Given the description of an element on the screen output the (x, y) to click on. 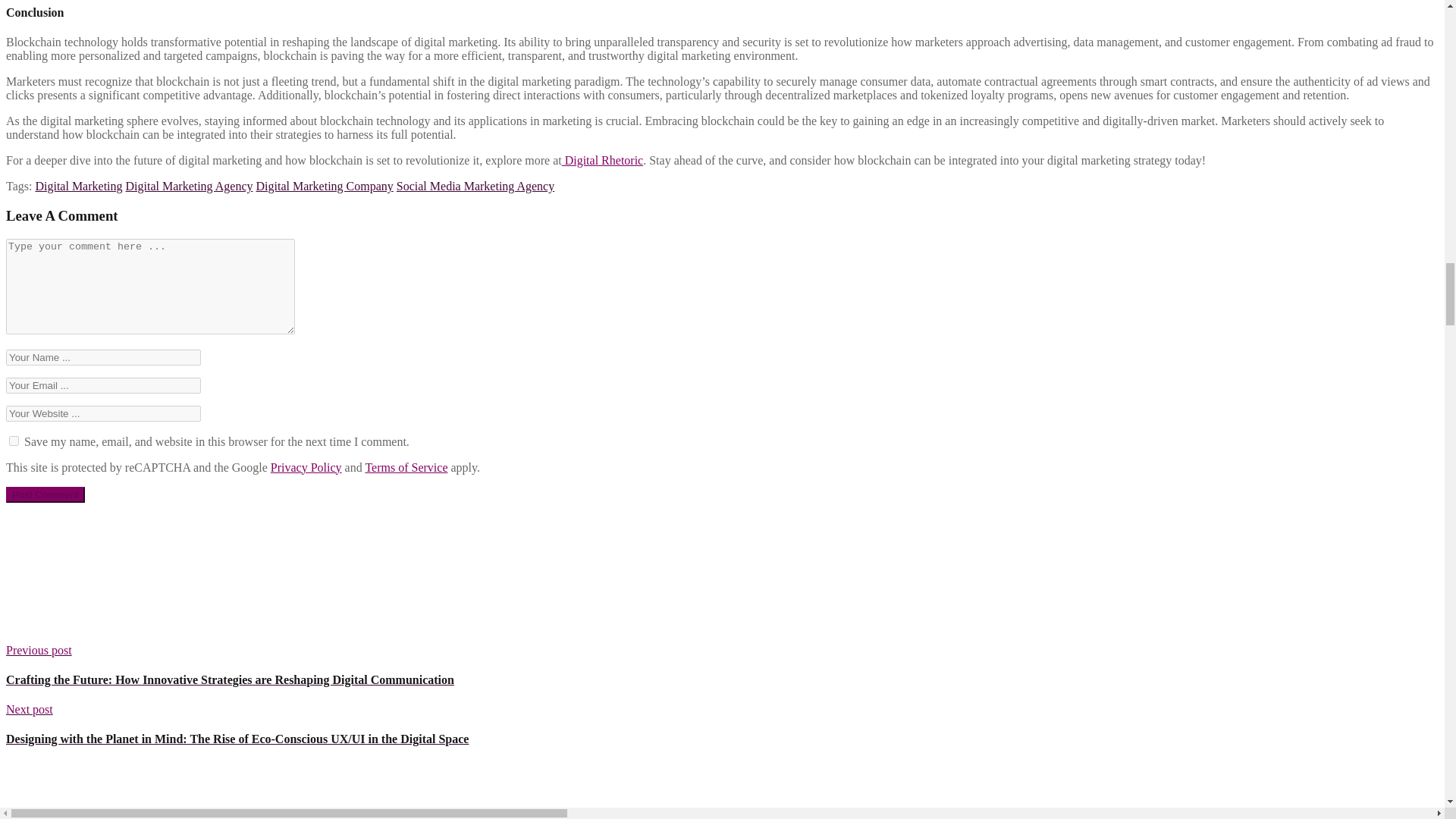
Post Comment (44, 494)
yes (13, 440)
